Given the description of an element on the screen output the (x, y) to click on. 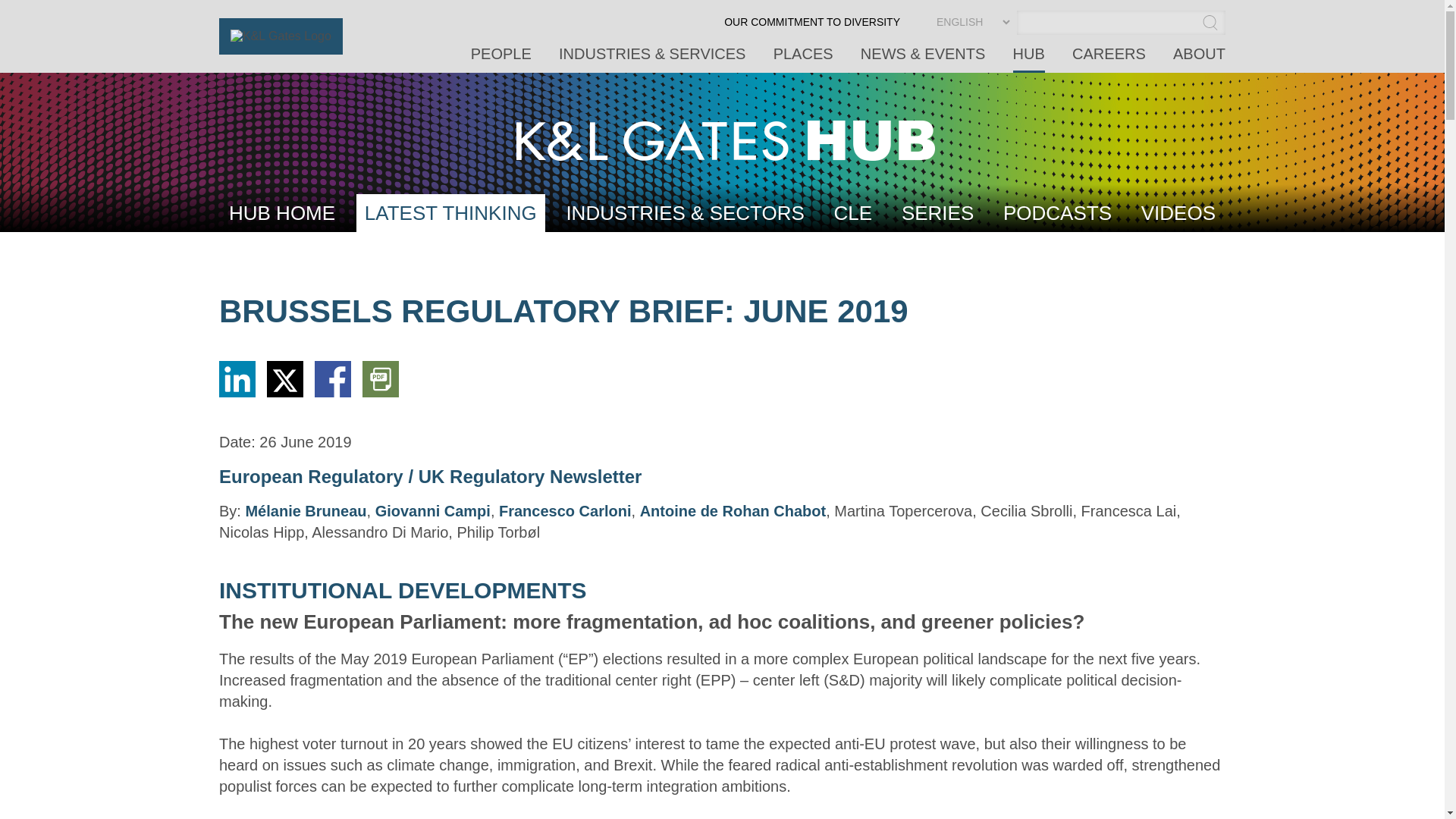
PODCASTS (1056, 212)
LATEST THINKING (450, 212)
PEOPLE (500, 58)
ABOUT (1199, 58)
OUR COMMITMENT TO DIVERSITY (811, 27)
Share via Twitter (284, 392)
VIDEOS (1178, 212)
Antoine de Rohan Chabot (733, 510)
PLACES (802, 58)
CAREERS (1108, 58)
CLE (852, 212)
Share via Facebook (332, 392)
HUB HOME (282, 212)
Giovanni Campi (432, 510)
HUB (1029, 58)
